Given the description of an element on the screen output the (x, y) to click on. 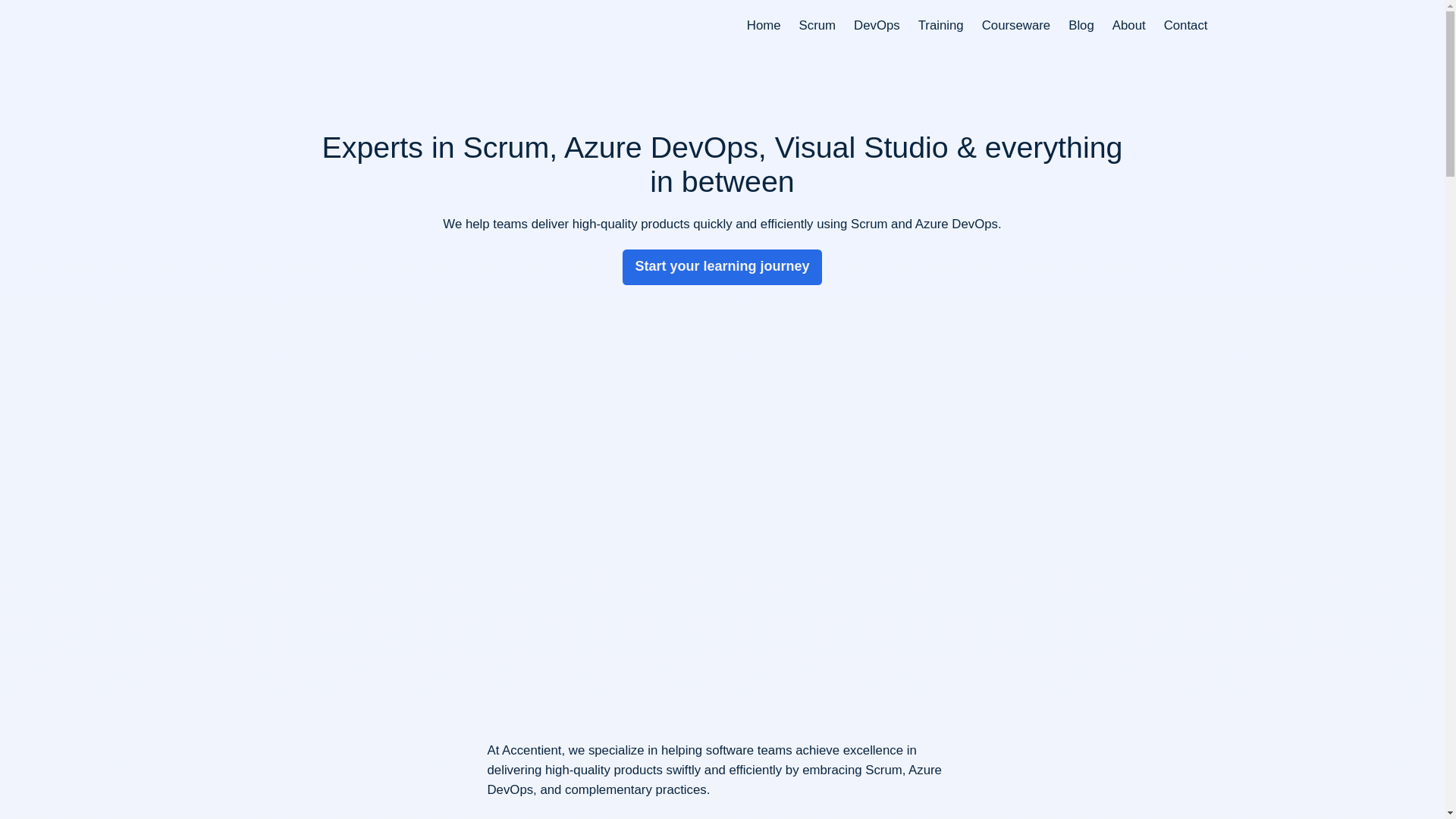
Contact (1185, 25)
About (1128, 25)
Start your learning journey (722, 267)
DevOps (876, 25)
Training (940, 25)
Courseware (1015, 25)
Home (763, 25)
Blog (1081, 25)
Scrum (817, 25)
